Given the description of an element on the screen output the (x, y) to click on. 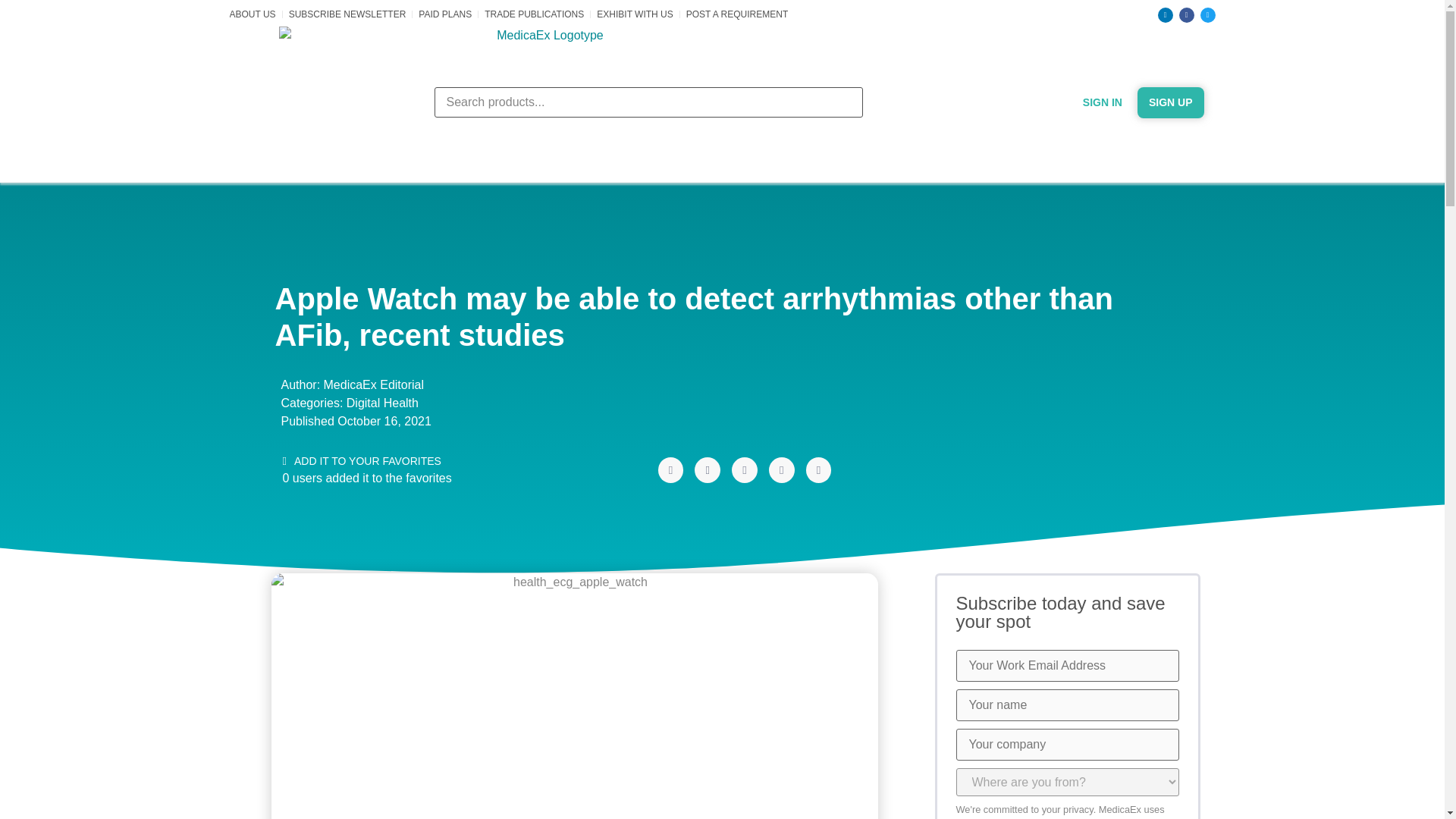
Author: MedicaEx Editorial (349, 384)
SIGN IN (1102, 101)
ABOUT US (251, 14)
Digital Health (382, 401)
POST A REQUIREMENT (736, 14)
SUBSCRIBE NEWSLETTER (347, 14)
SIGN UP (1170, 101)
TRADE PUBLICATIONS (533, 14)
ADD IT TO YOUR FAVORITES (361, 461)
EXHIBIT WITH US (634, 14)
